Given the description of an element on the screen output the (x, y) to click on. 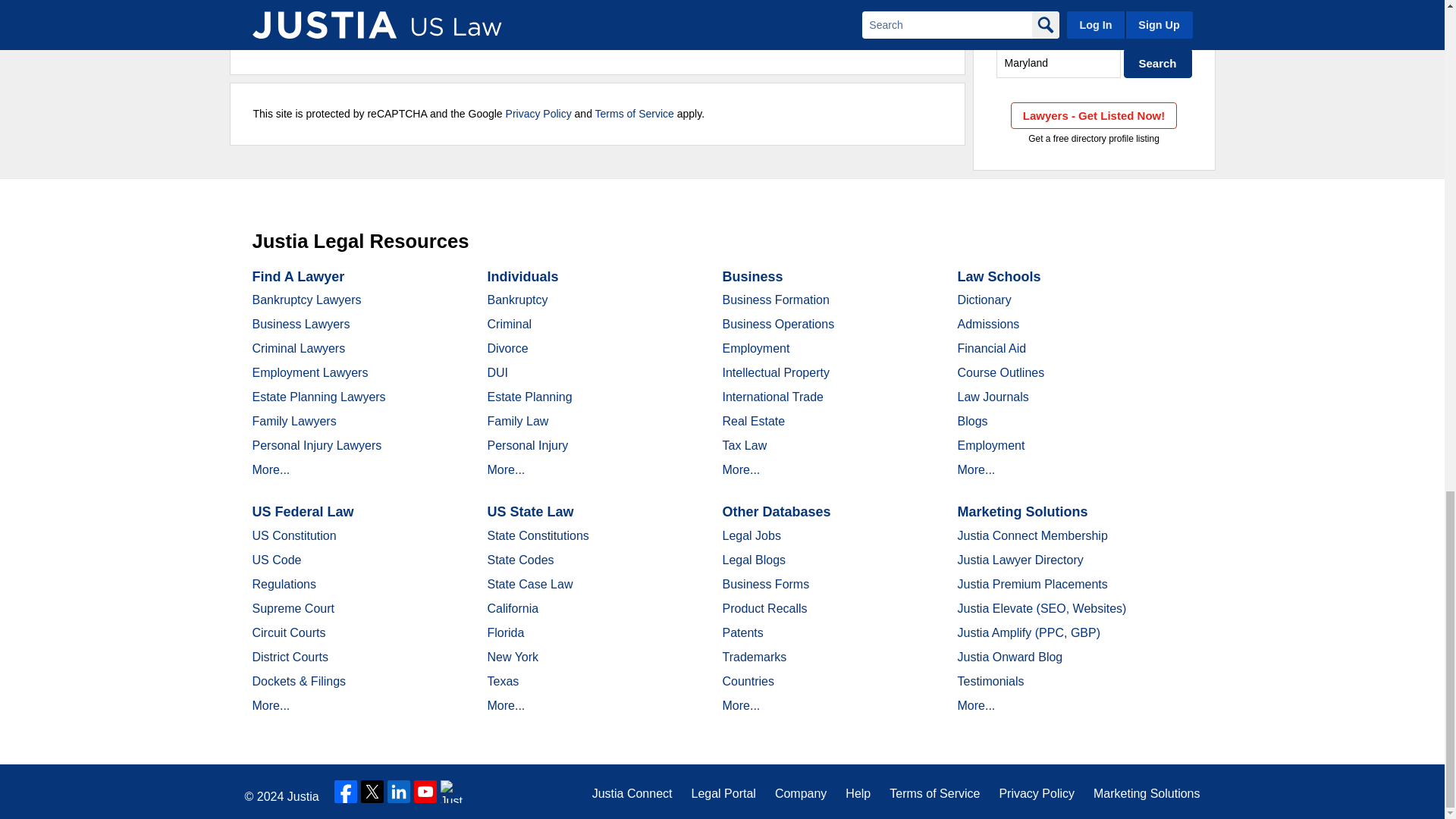
YouTube (424, 791)
Search (1158, 62)
Justia Lawyer Directory (452, 791)
Facebook (345, 791)
Search (1158, 62)
LinkedIn (398, 791)
Education Law (1093, 30)
Twitter (372, 791)
Maryland (1058, 62)
City, State (1058, 62)
Legal Issue or Lawyer Name (1093, 30)
